Given the description of an element on the screen output the (x, y) to click on. 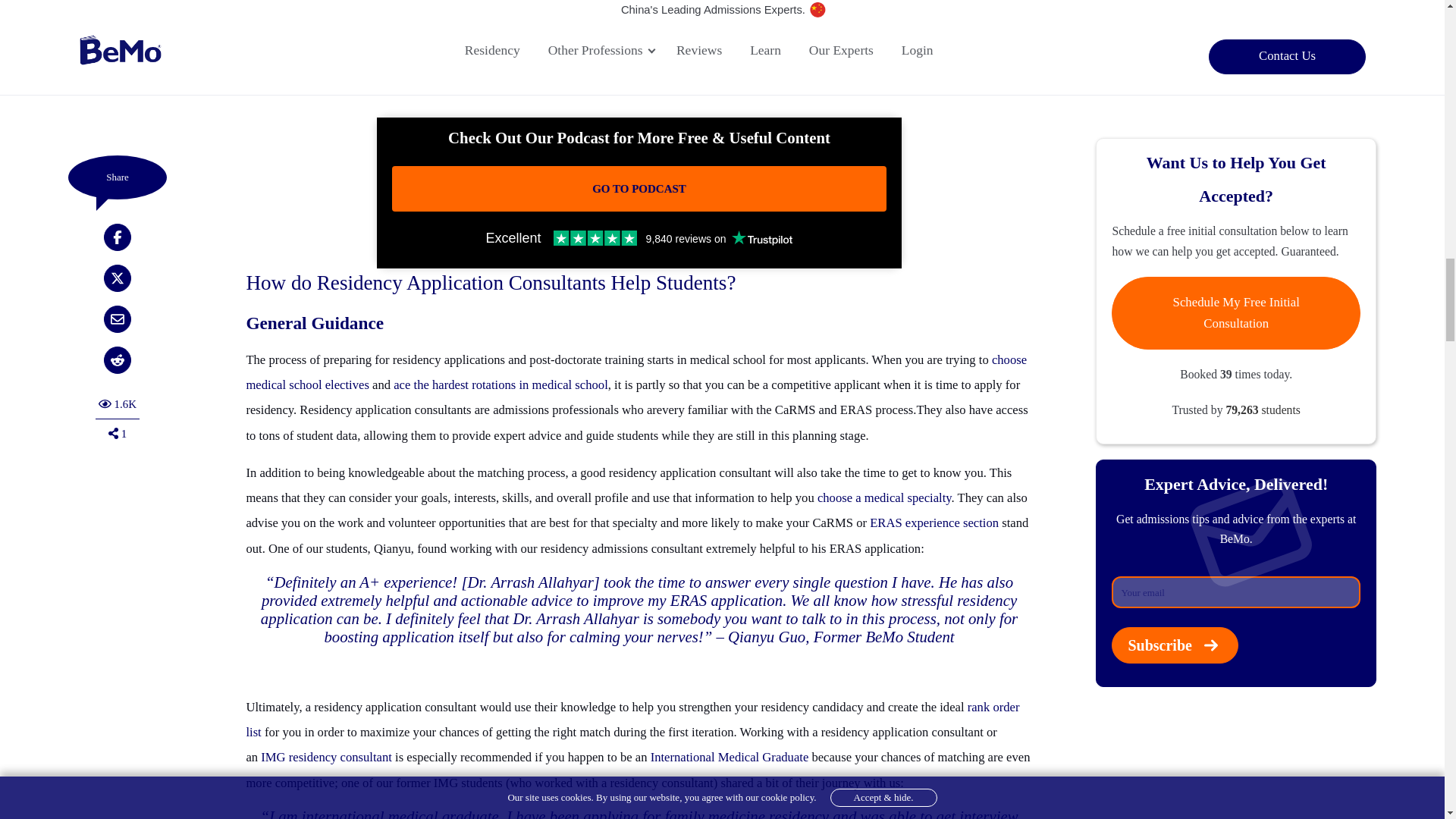
Customer reviews powered by Trustpilot (638, 237)
YouTube video (639, 58)
